Given the description of an element on the screen output the (x, y) to click on. 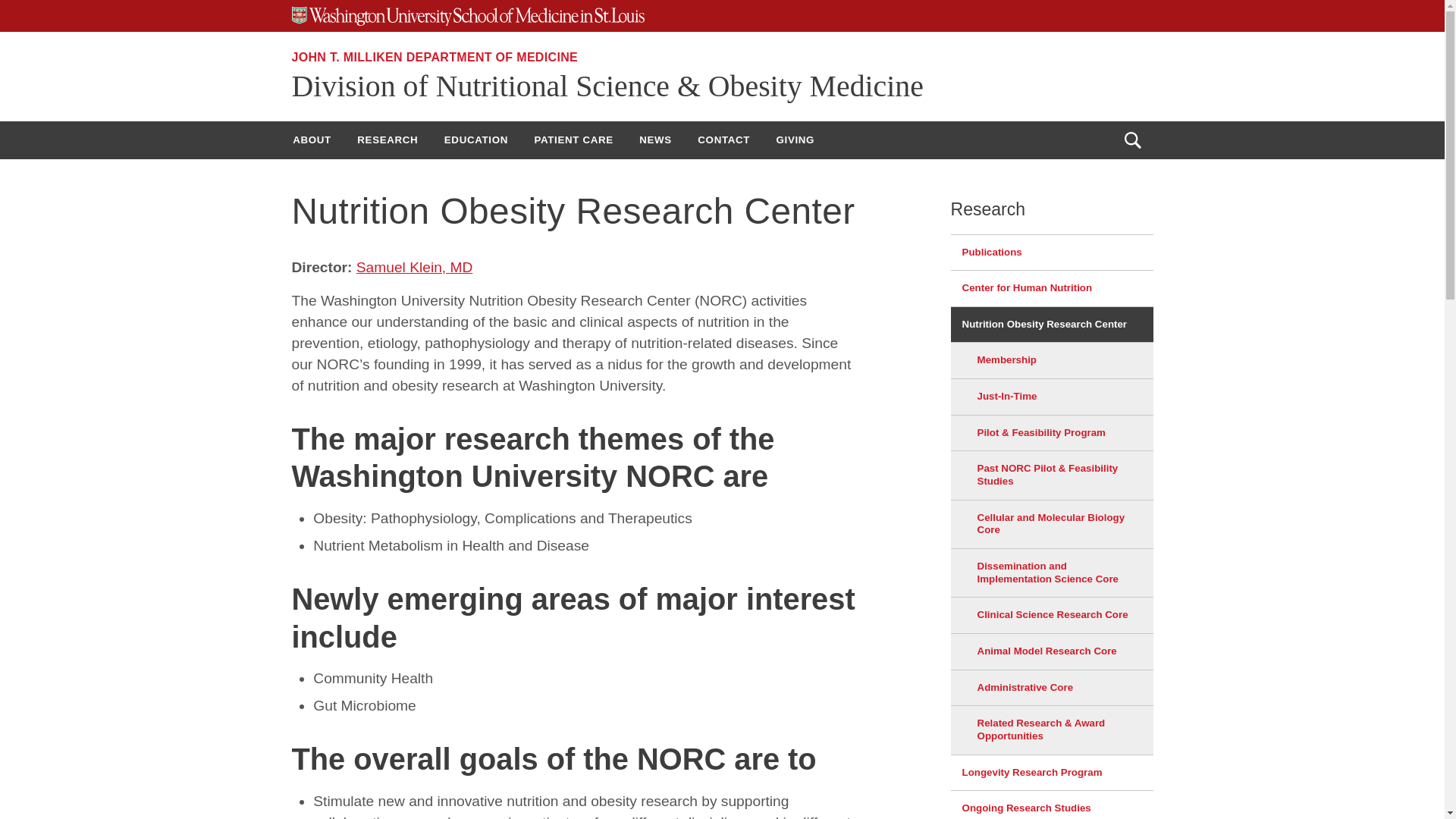
JOHN T. MILLIKEN DEPARTMENT OF MEDICINE (434, 56)
PATIENT CARE (573, 139)
RESEARCH (387, 139)
ABOUT (311, 139)
EDUCATION (475, 139)
